Given the description of an element on the screen output the (x, y) to click on. 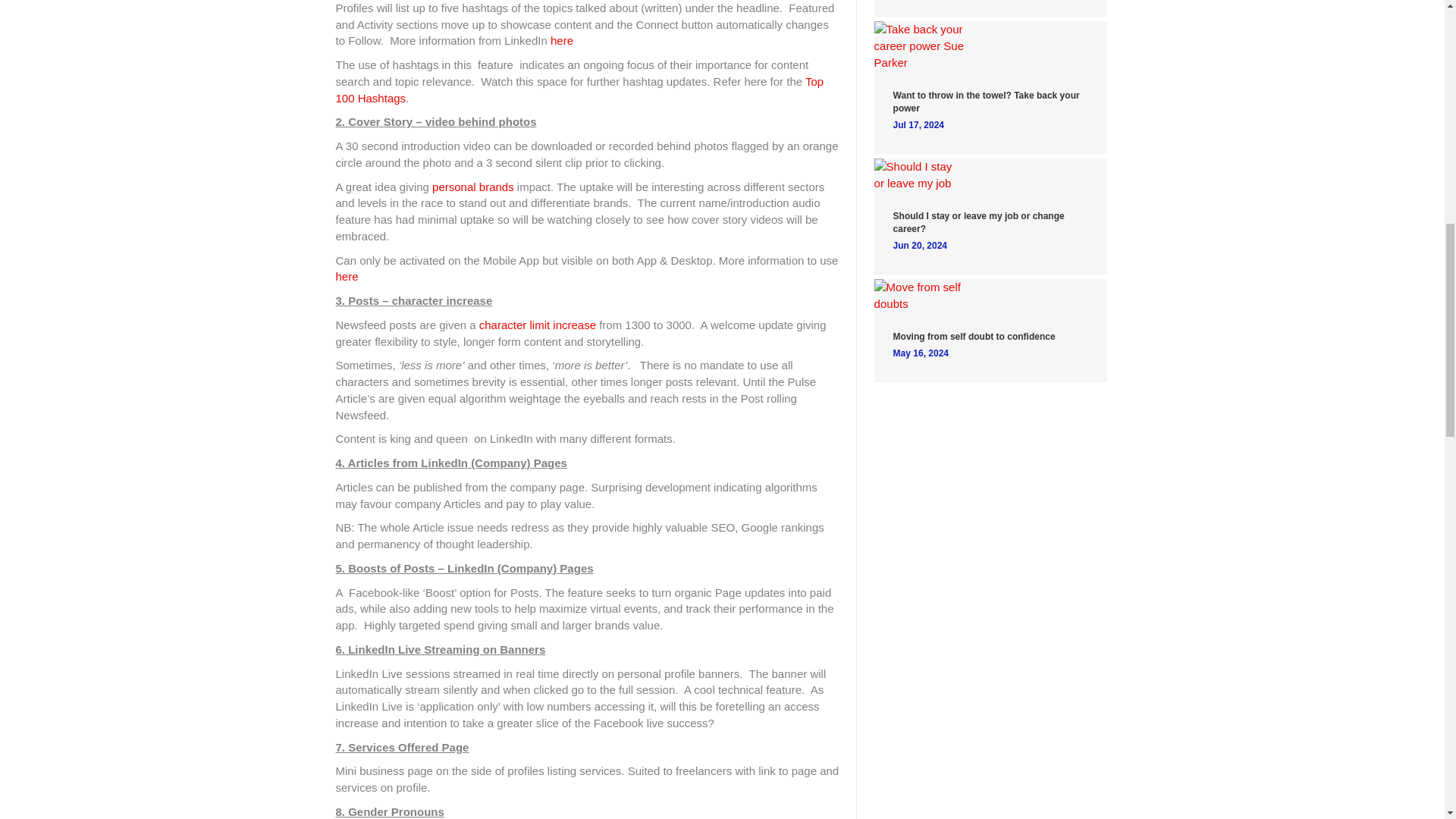
character limit increase (537, 324)
Want to throw in the towel?  Take back your power (920, 44)
Should I stay or leave my job or change career? (978, 222)
Moving from self doubt to confidence (974, 336)
Should I stay or leave my job or change career? (920, 173)
personal brands (472, 186)
Want to throw in the towel?  Take back your power (986, 101)
here (561, 40)
here (346, 276)
Moving from self doubt to confidence (920, 293)
